Given the description of an element on the screen output the (x, y) to click on. 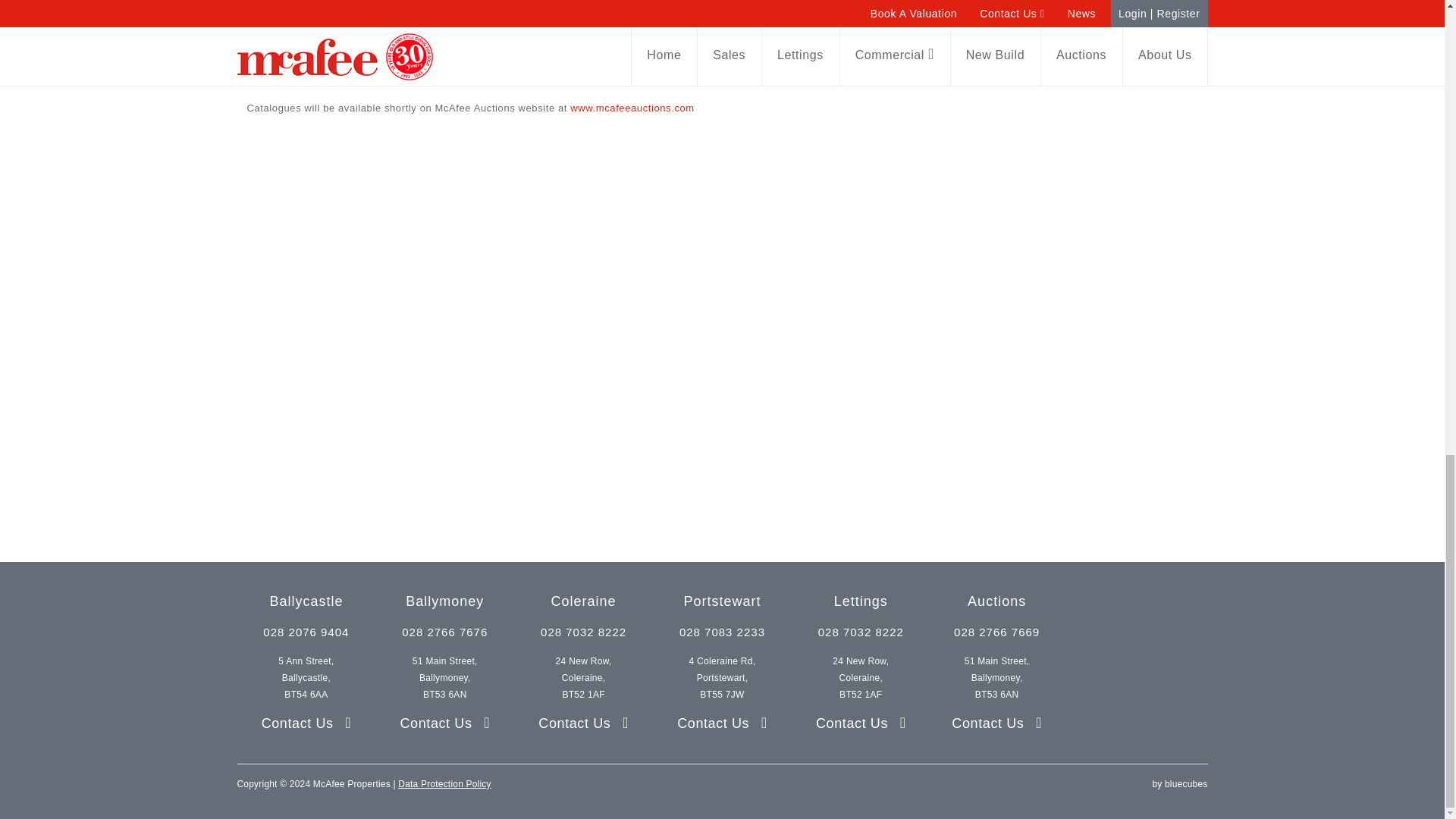
028 2076 9404 (305, 631)
028 2766 7676 (444, 631)
www.mcafeeauctions.com (632, 107)
Contact Us (305, 723)
